Given the description of an element on the screen output the (x, y) to click on. 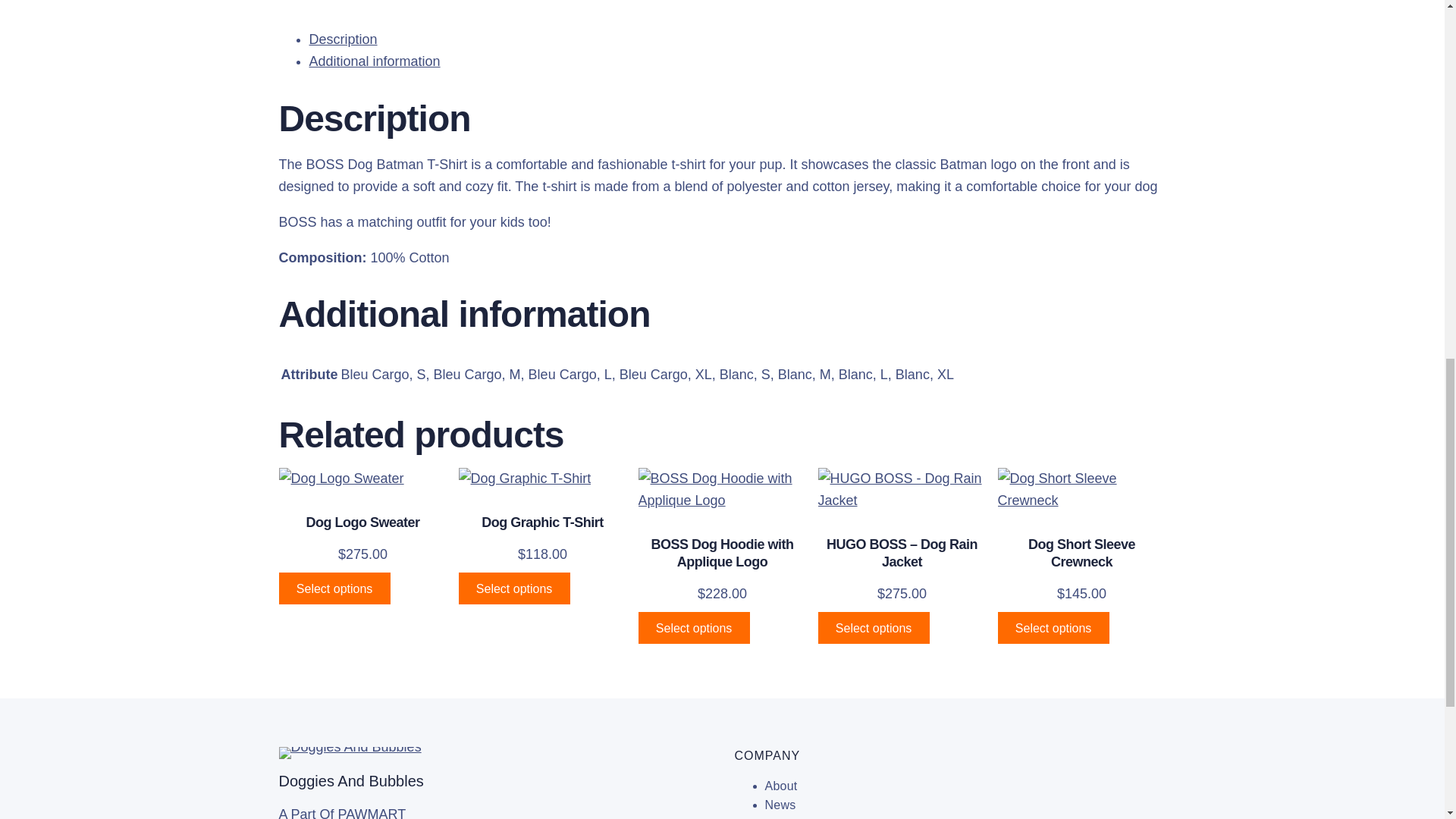
Dog Logo Sweater (362, 522)
Select options (334, 588)
Dog Graphic T-Shirt (542, 522)
Description (342, 38)
Additional information (374, 61)
Select options (513, 588)
